Given the description of an element on the screen output the (x, y) to click on. 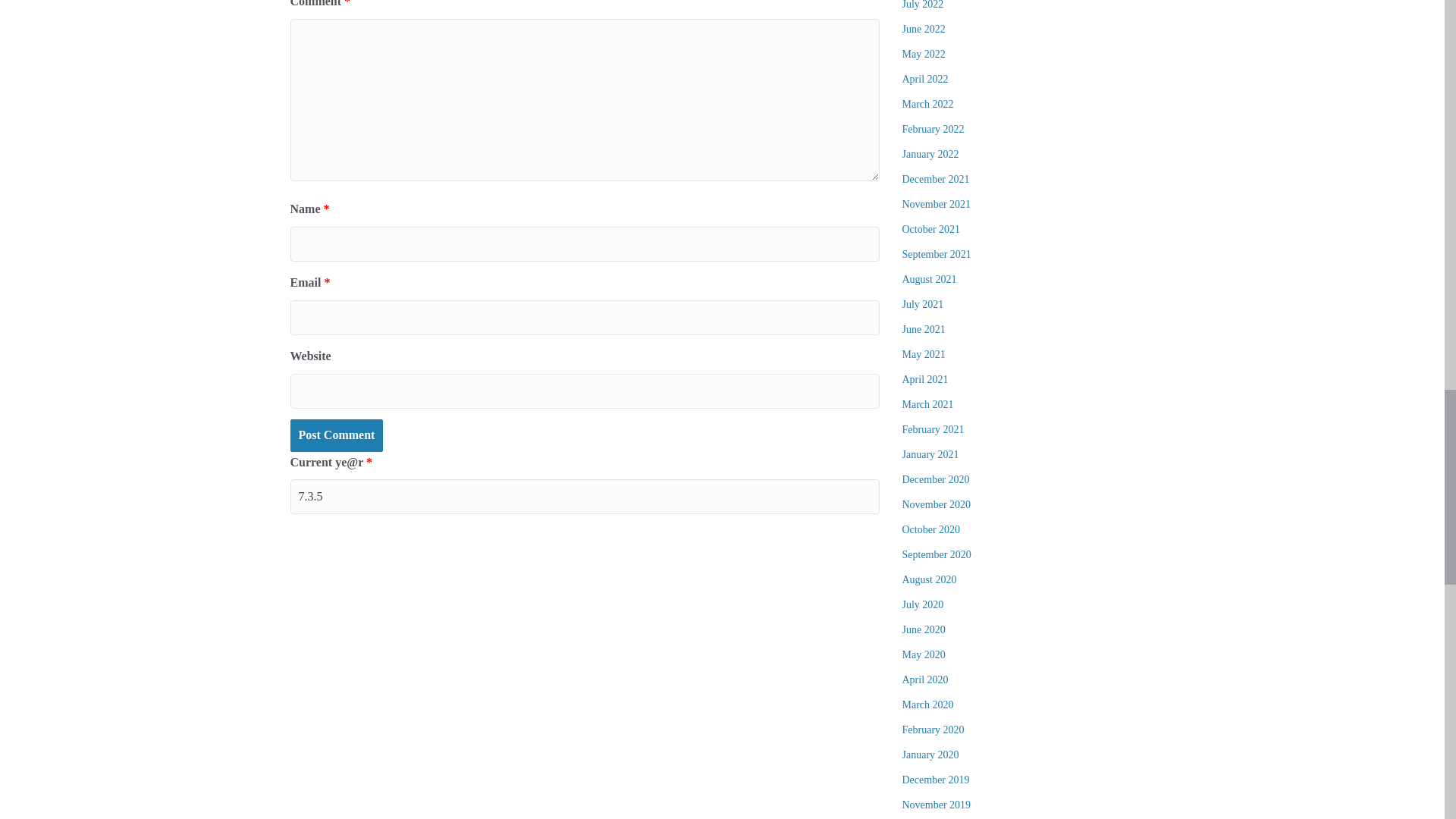
Post Comment (335, 435)
Post Comment (335, 435)
7.3.5 (584, 496)
